Given the description of an element on the screen output the (x, y) to click on. 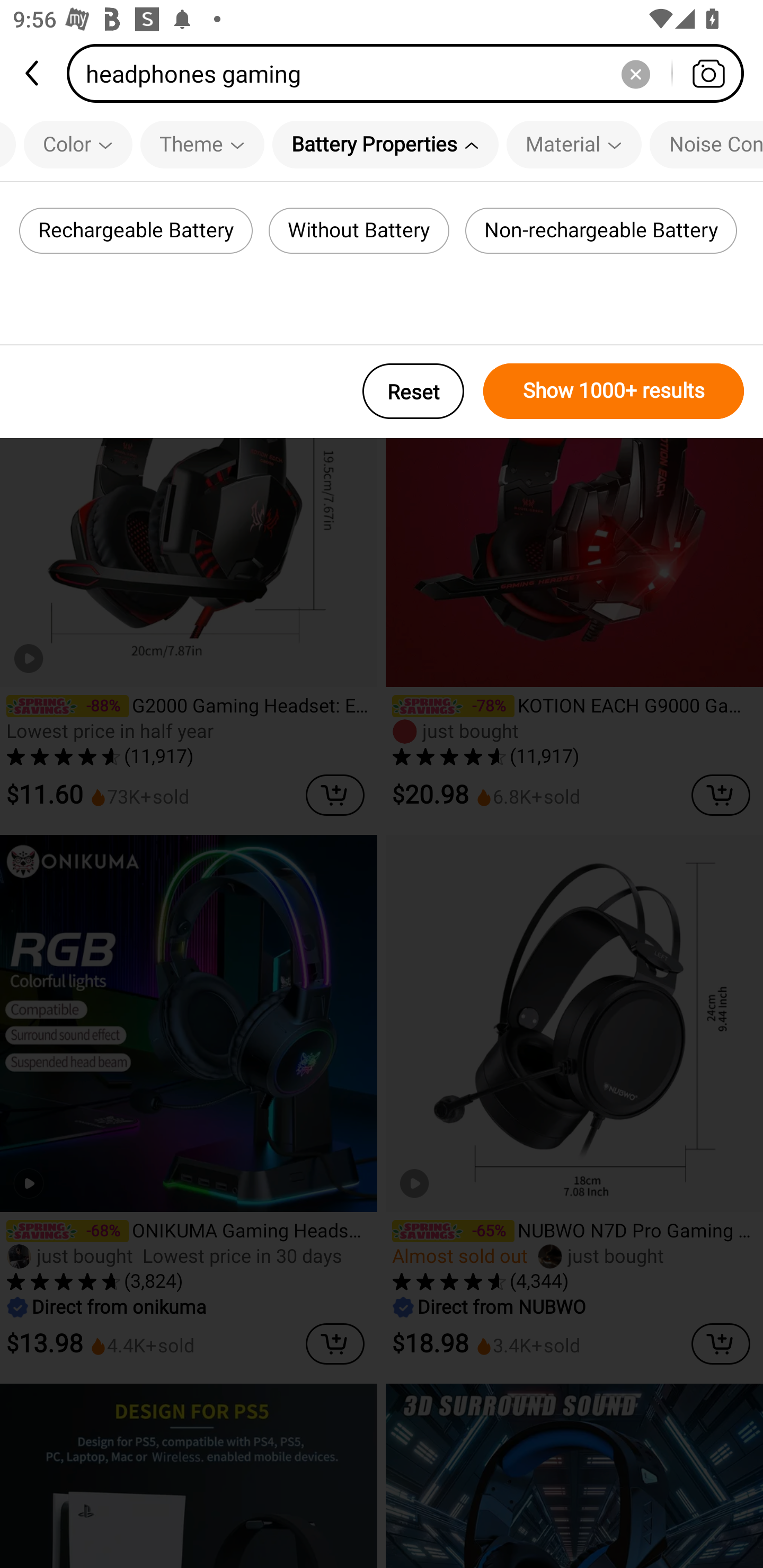
back (33, 72)
headphones gaming (411, 73)
Delete search history (635, 73)
Search by photo (708, 73)
Color (77, 143)
Theme (202, 143)
Battery Properties (385, 143)
Material (573, 143)
Rechargeable Battery (135, 230)
Without Battery (358, 230)
Non-rechargeable Battery (601, 230)
Reset (412, 390)
Show 1000+ results (612, 390)
